Given the description of an element on the screen output the (x, y) to click on. 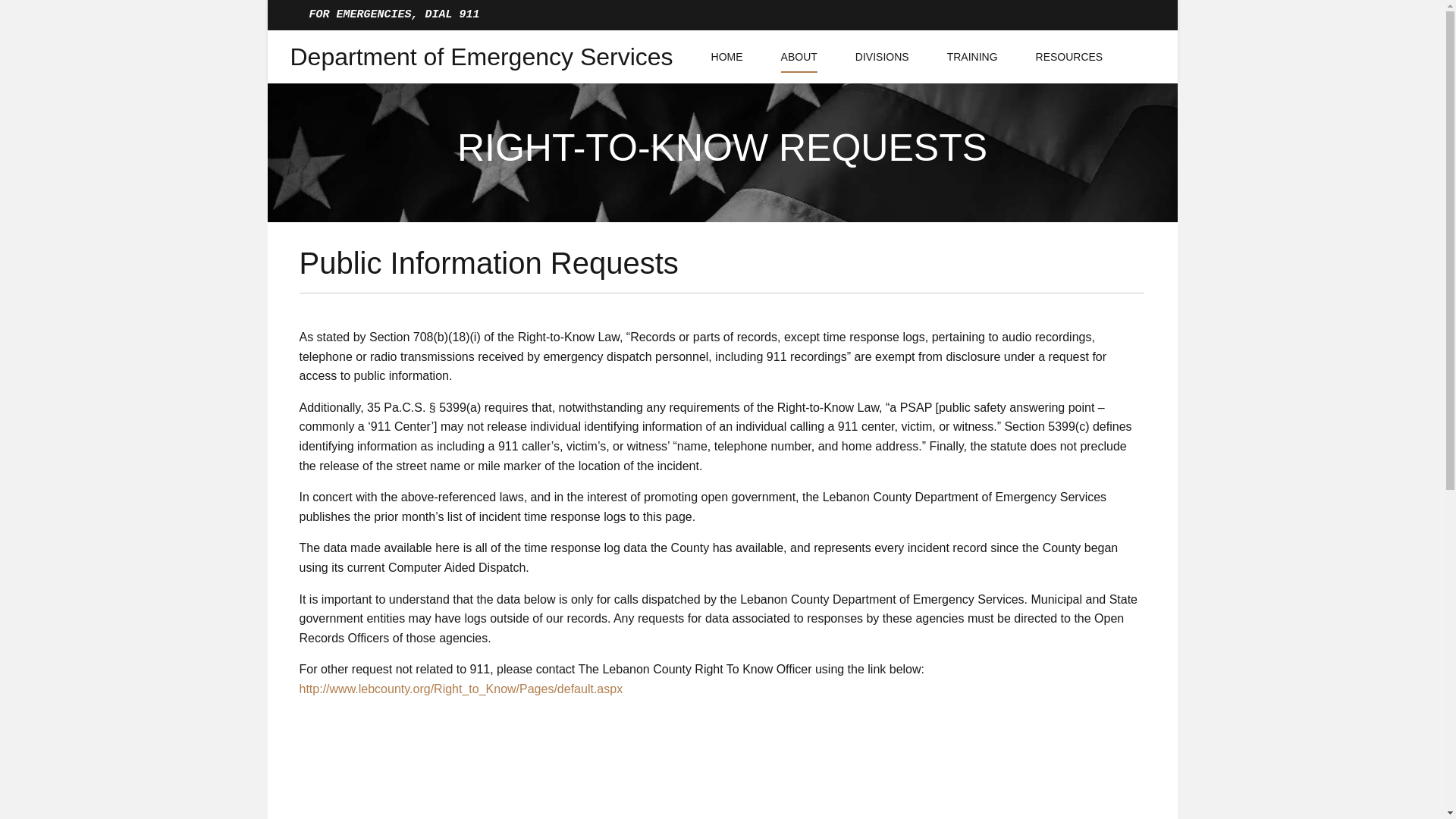
DIVISIONS (882, 56)
Department of Emergency Services (480, 56)
RESOURCES (1069, 56)
TRAINING (972, 56)
